Given the description of an element on the screen output the (x, y) to click on. 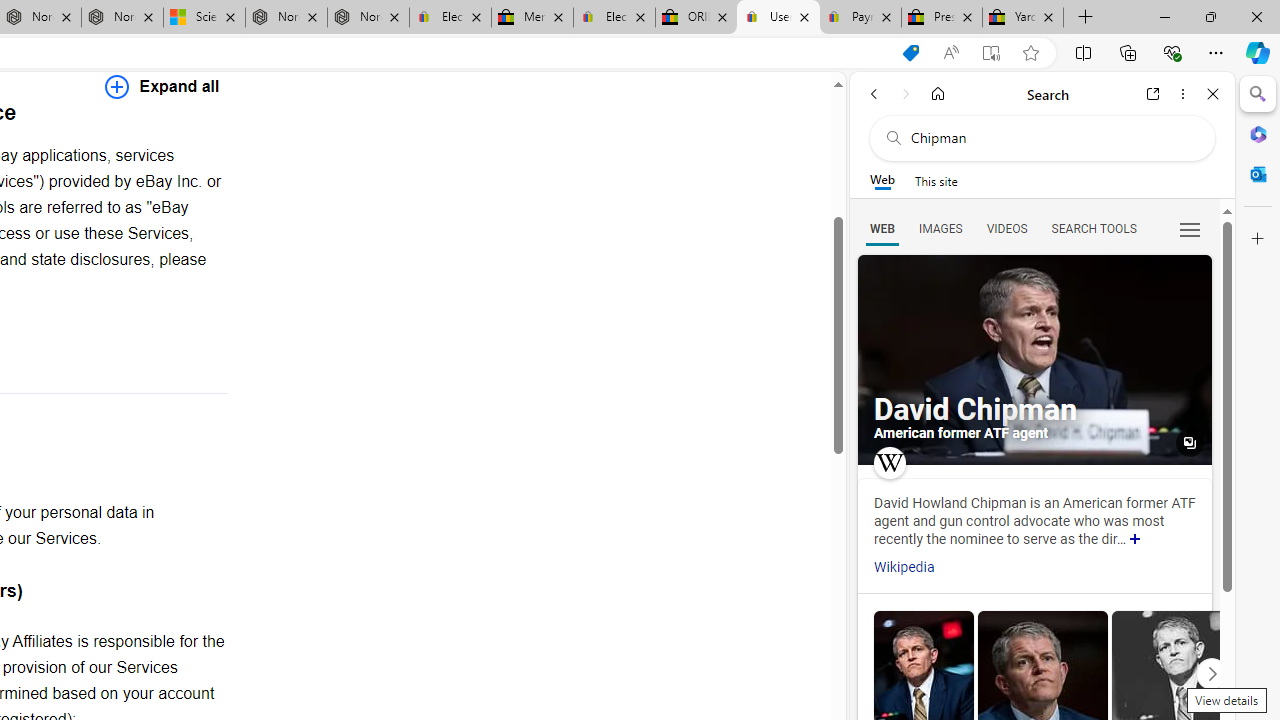
Show more (1135, 539)
